Given the description of an element on the screen output the (x, y) to click on. 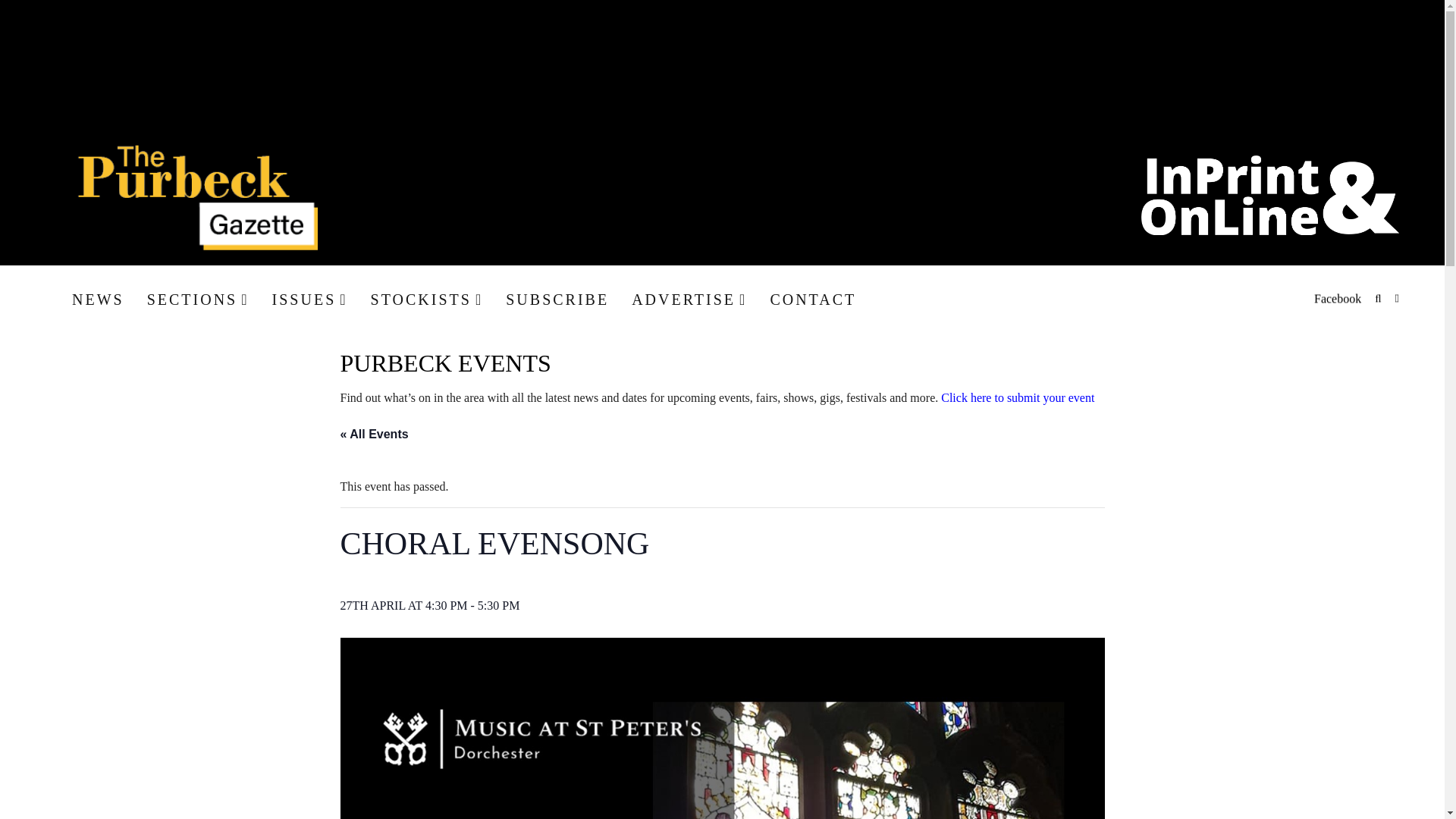
ADVERTISE (688, 299)
SUBSCRIBE (556, 299)
CONTACT (813, 299)
SECTIONS (197, 299)
ISSUES (309, 299)
NEWS (97, 299)
STOCKISTS (427, 299)
